Given the description of an element on the screen output the (x, y) to click on. 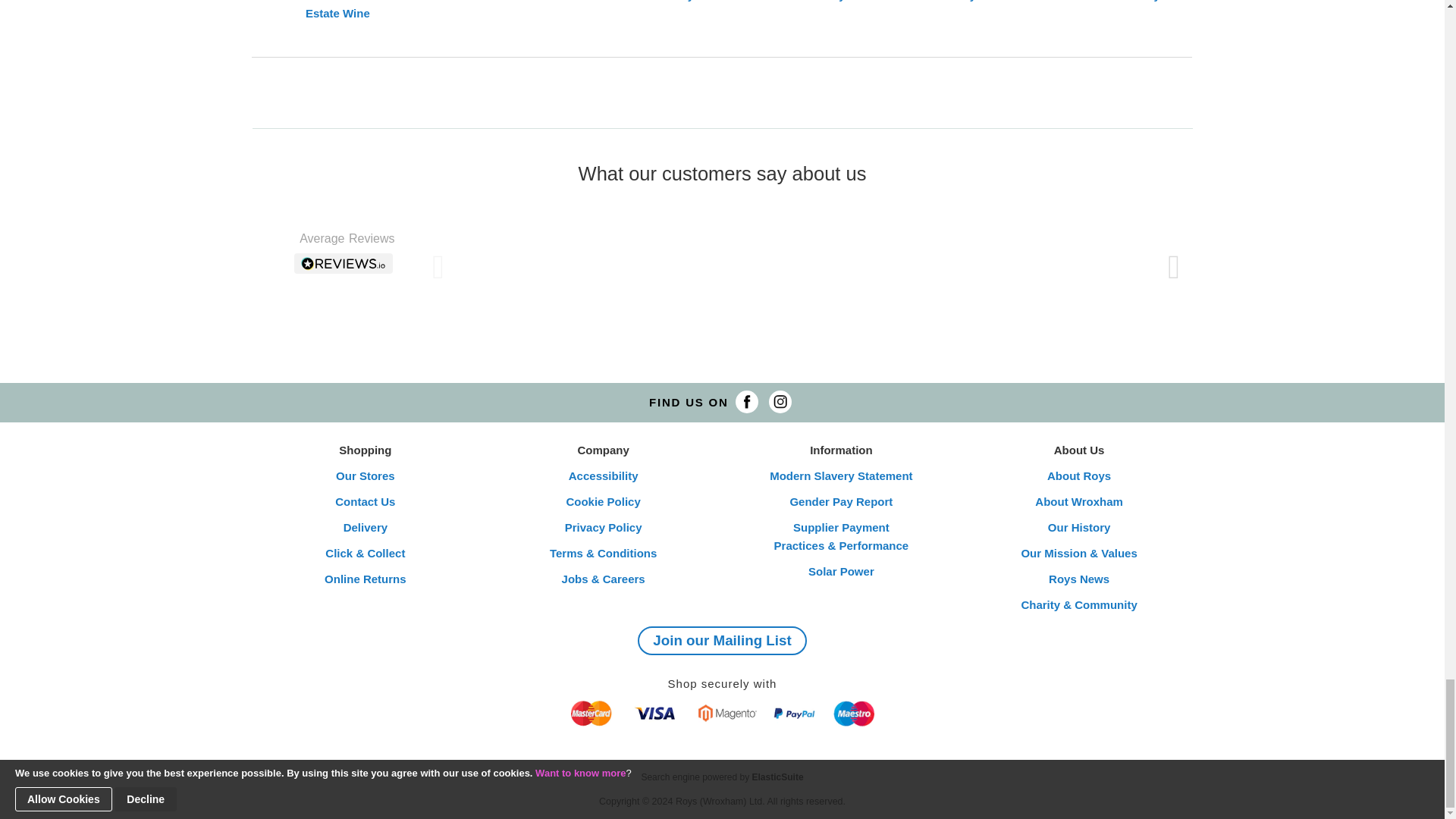
Our History (1079, 527)
